Given the description of an element on the screen output the (x, y) to click on. 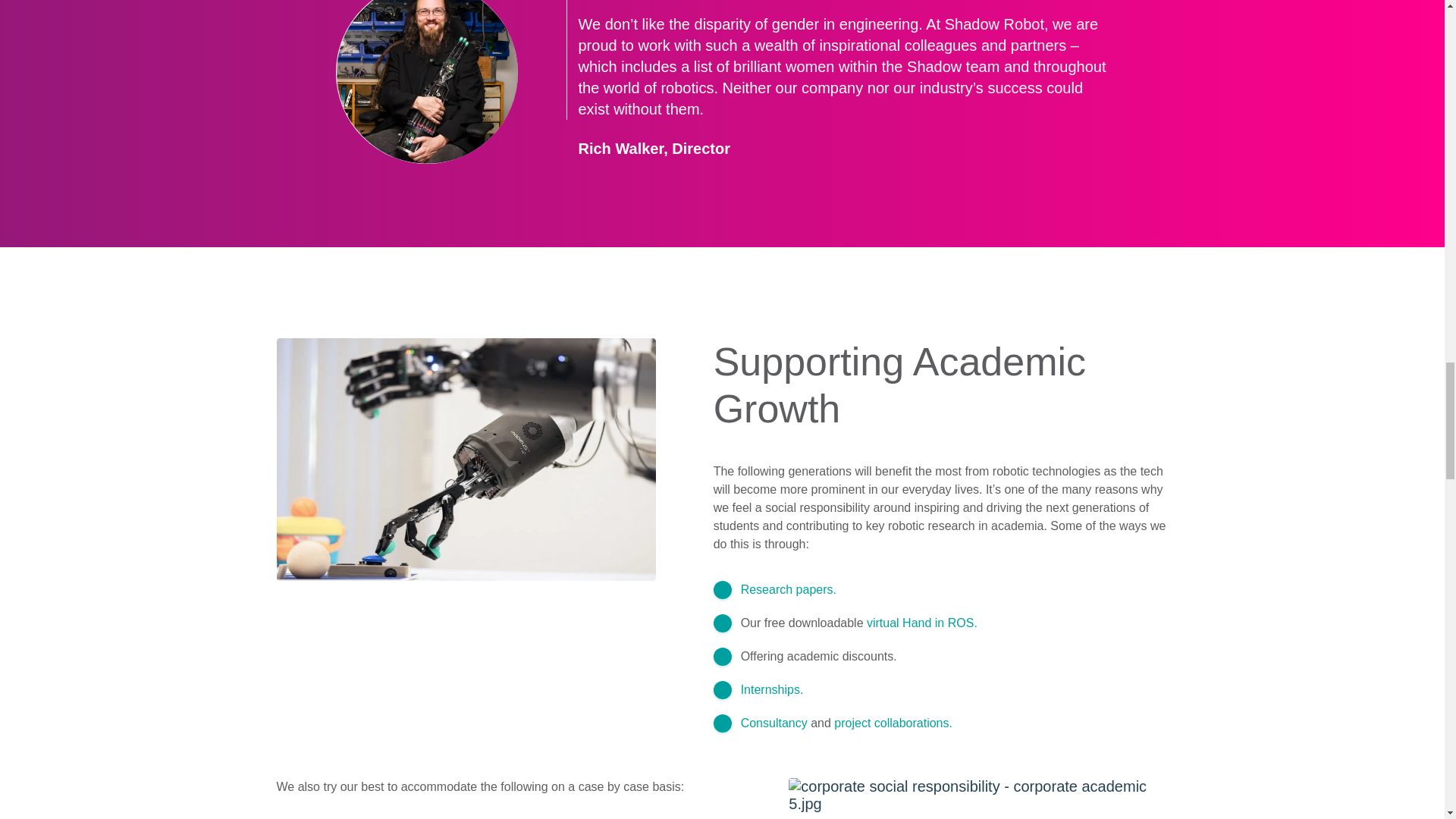
Shadow Robot Dexterous Hand doing the thumbs up Hand sign (978, 795)
Bio-TAC Dexterous Hand pressing button (465, 459)
Consultancy (774, 722)
Research papers. (788, 589)
project collaborations. (893, 722)
virtual Hand in ROS. (921, 622)
Internships. (772, 689)
